Given the description of an element on the screen output the (x, y) to click on. 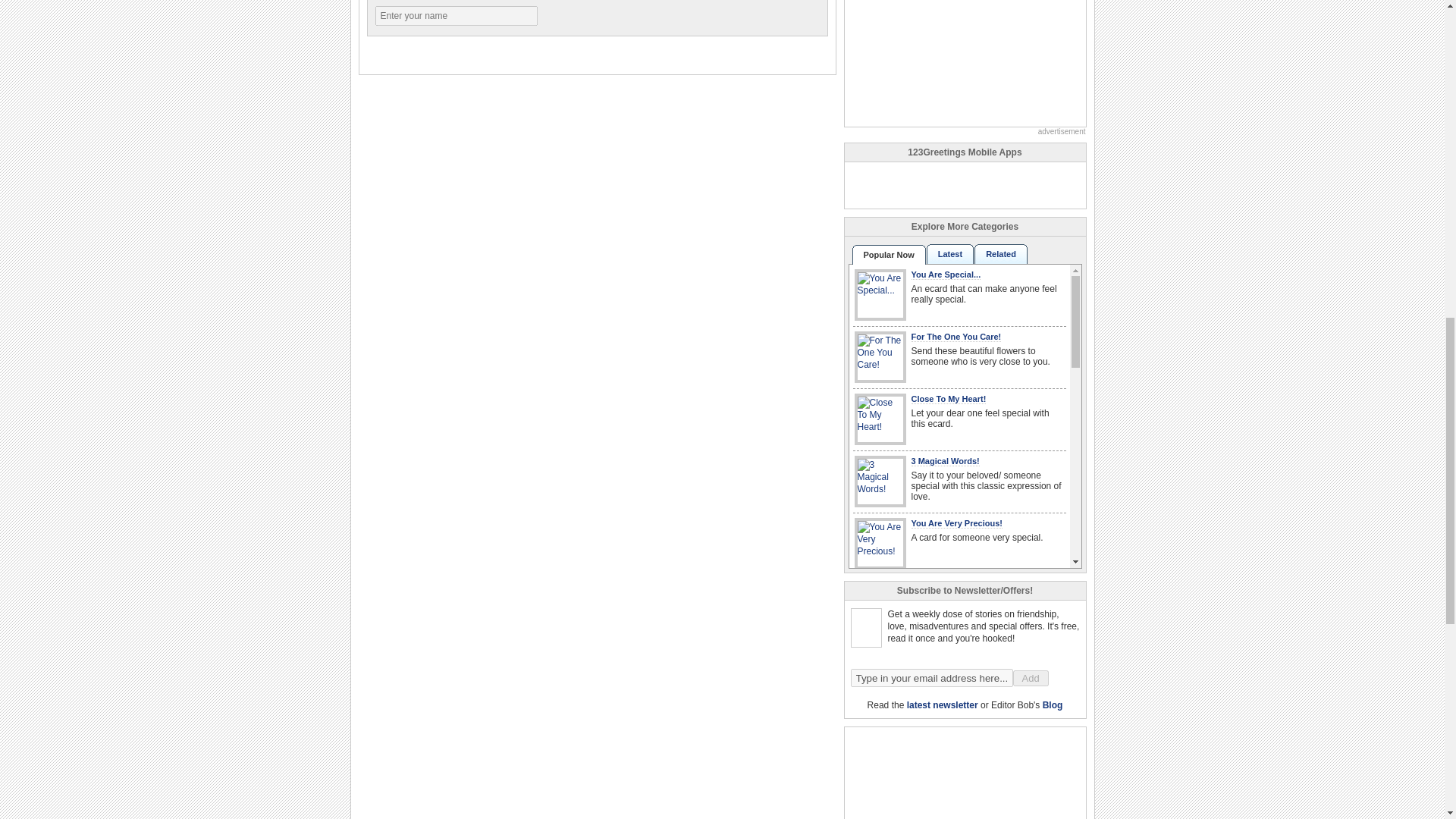
Type in your email address here... (931, 678)
